Given the description of an element on the screen output the (x, y) to click on. 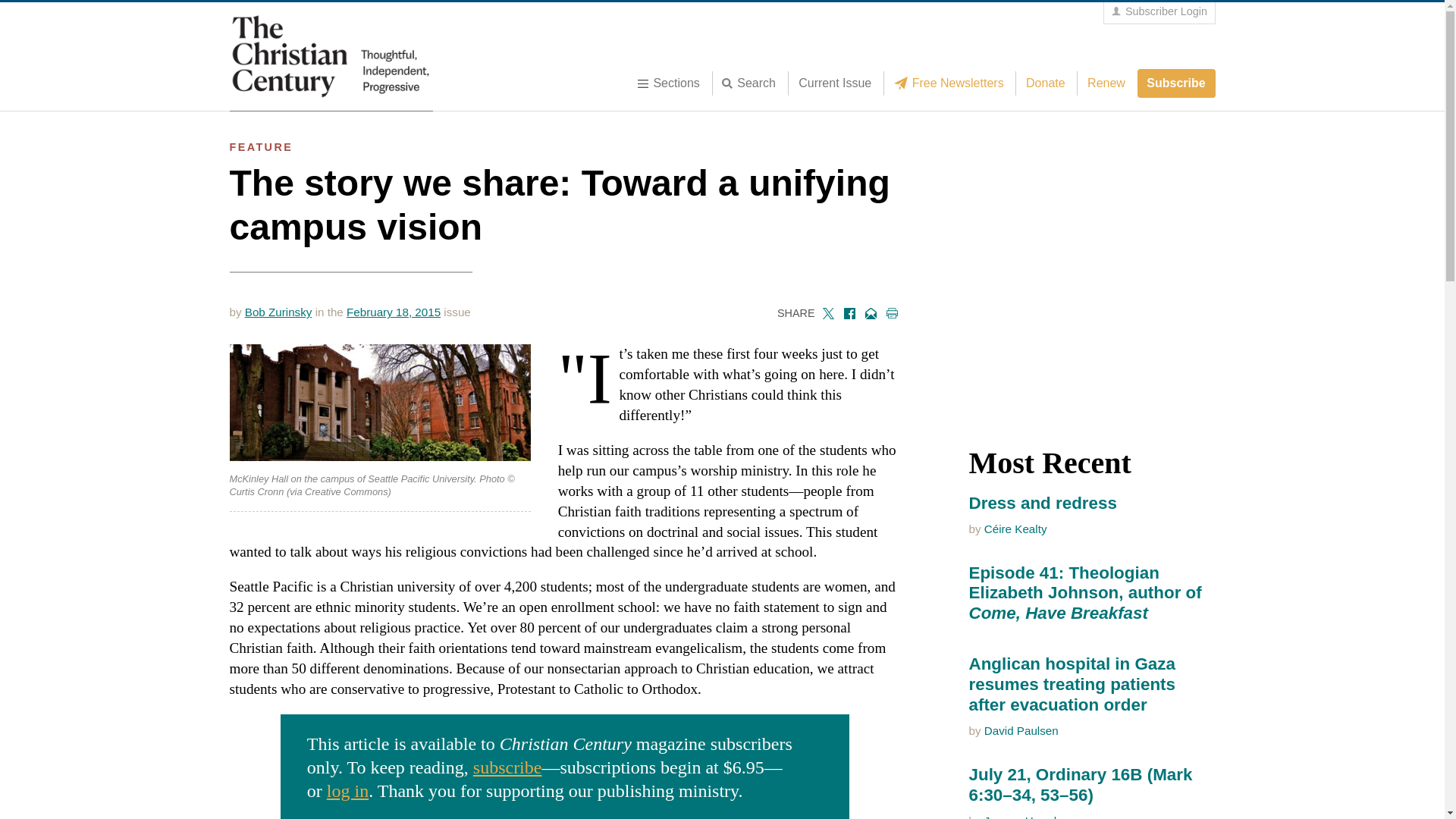
Free Newsletters (952, 83)
Renew (1105, 83)
Subscriber Login (1159, 11)
Current Issue (834, 83)
Donate (1045, 83)
Back to homepage (330, 56)
title (753, 83)
Subscribe (1176, 82)
